Given the description of an element on the screen output the (x, y) to click on. 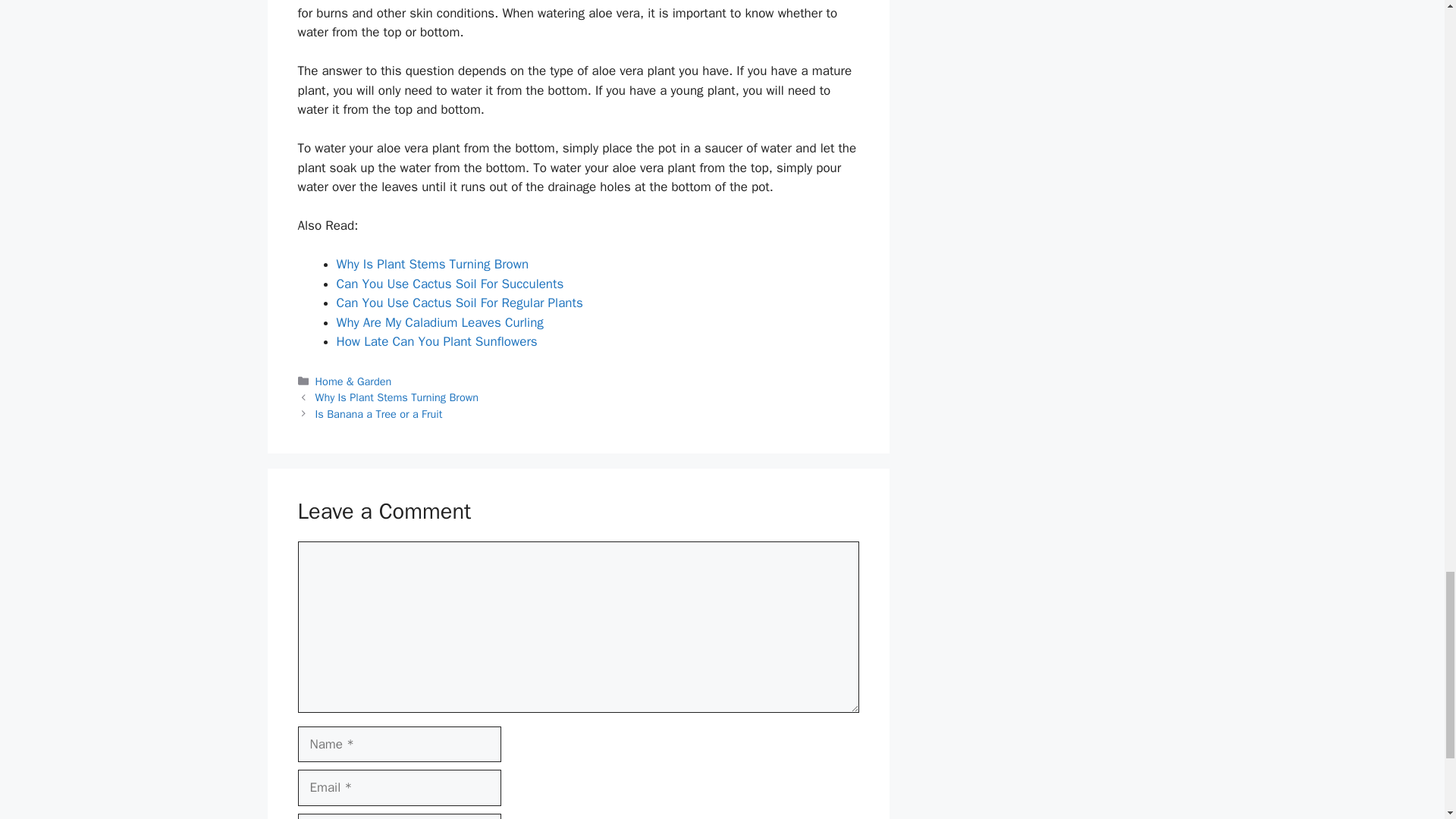
Why Is Plant Stems Turning Brown (432, 263)
Can You Use Cactus Soil For Succulents (450, 283)
Is Banana a Tree or a Fruit (378, 413)
Can You Use Cactus Soil For Regular Plants (459, 302)
How Late Can You Plant Sunflowers (436, 341)
Why Are My Caladium Leaves Curling (439, 322)
Why Is Plant Stems Turning Brown (397, 397)
